Given the description of an element on the screen output the (x, y) to click on. 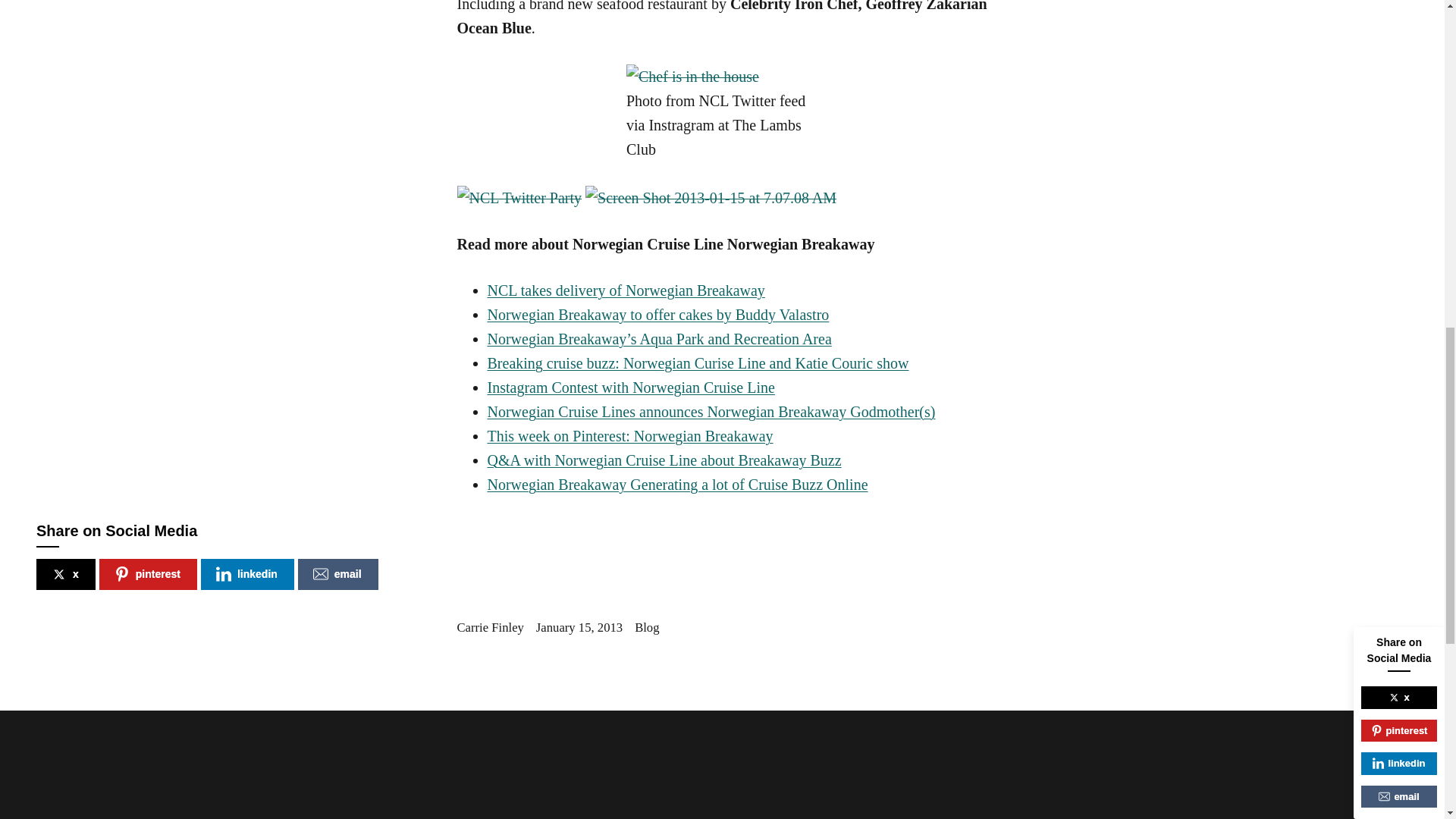
This week on Pinterest: Norwegian Breakaway (629, 435)
x (66, 573)
pinterest (147, 573)
email (338, 573)
Instagram Contest with Norwegian Cruise Line (630, 387)
NCL takes delivery of Norwegian Breakaway (625, 289)
Norwegian Breakaway to offer cakes by Buddy Valastro (657, 314)
